Given the description of an element on the screen output the (x, y) to click on. 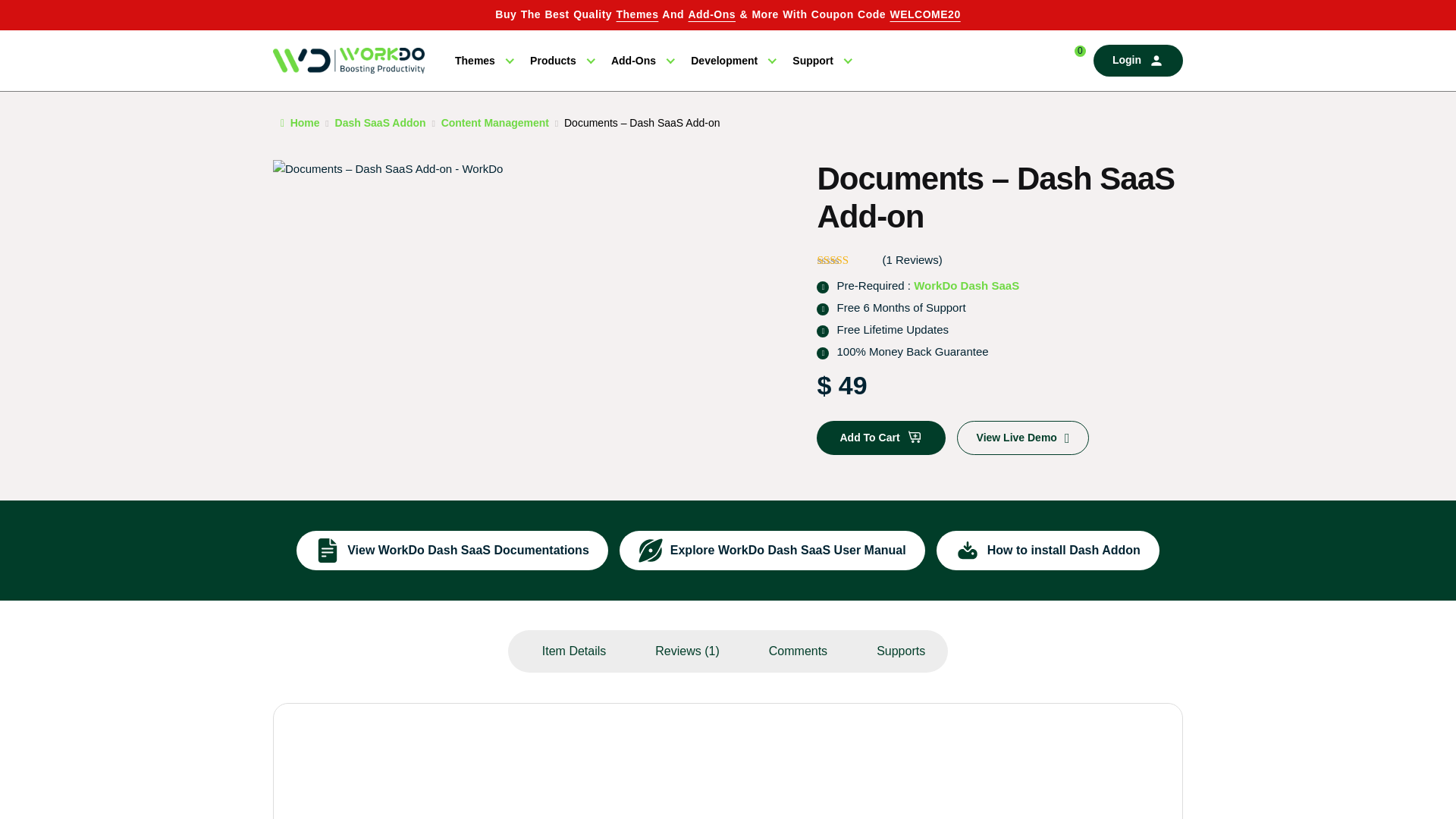
Themes (637, 14)
Add-Ons (641, 60)
Products (560, 60)
Development (731, 60)
Add-Ons (711, 14)
Themes (482, 60)
View your shopping cart (1070, 60)
